Given the description of an element on the screen output the (x, y) to click on. 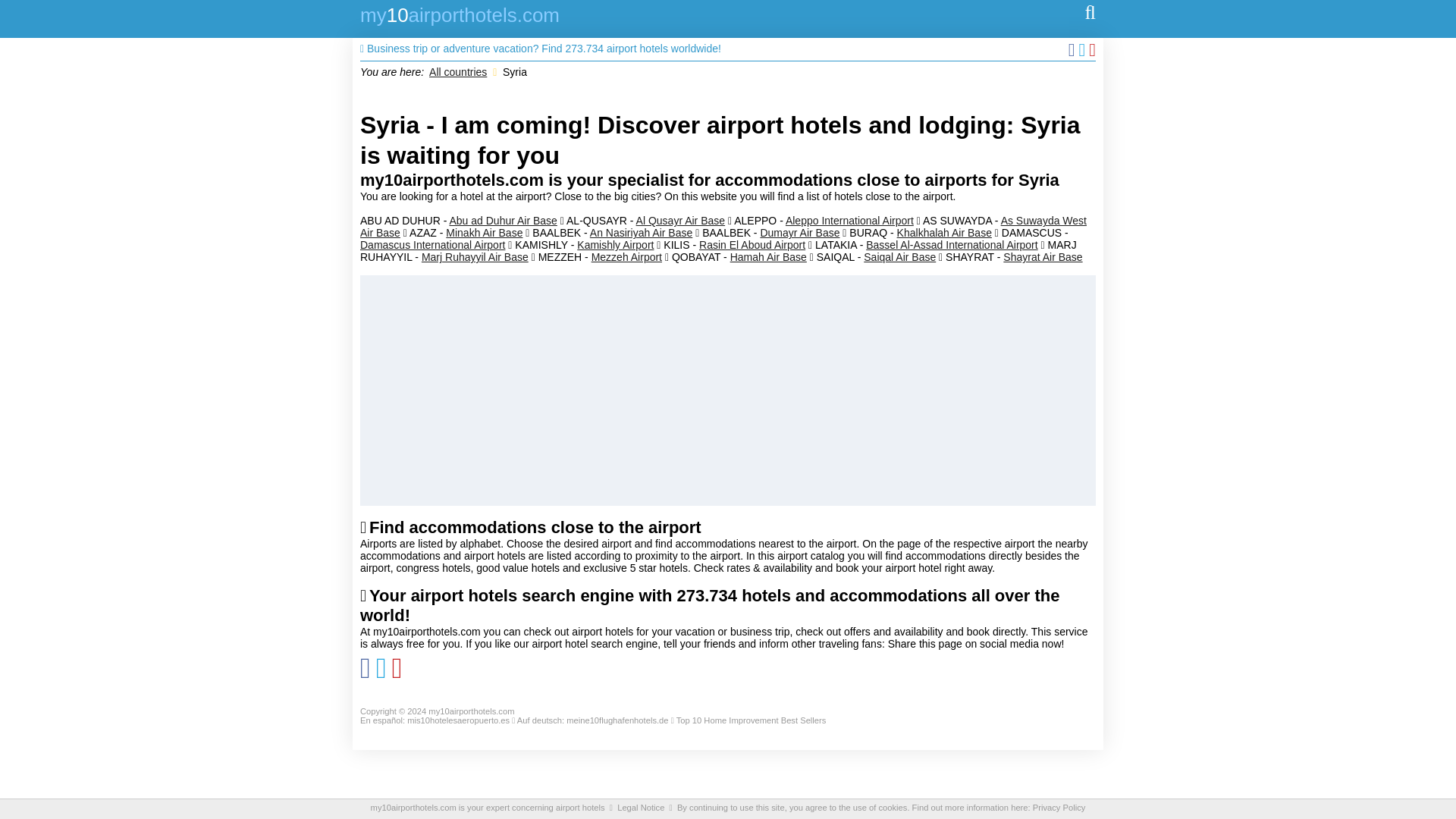
Aleppo International Airport (850, 220)
Marj Ruhayyil Air Base (475, 256)
Damascus International Airport (432, 244)
Hotel catalog my10airporthotels.com (459, 17)
Minakh Air Base (483, 232)
Share on Facebook (367, 673)
As Suwayda West Air Base (722, 226)
Bassel Al-Assad International Airport (951, 244)
meine10flughafenhotels.de (617, 719)
Khalkhalah Air Base (943, 232)
